Given the description of an element on the screen output the (x, y) to click on. 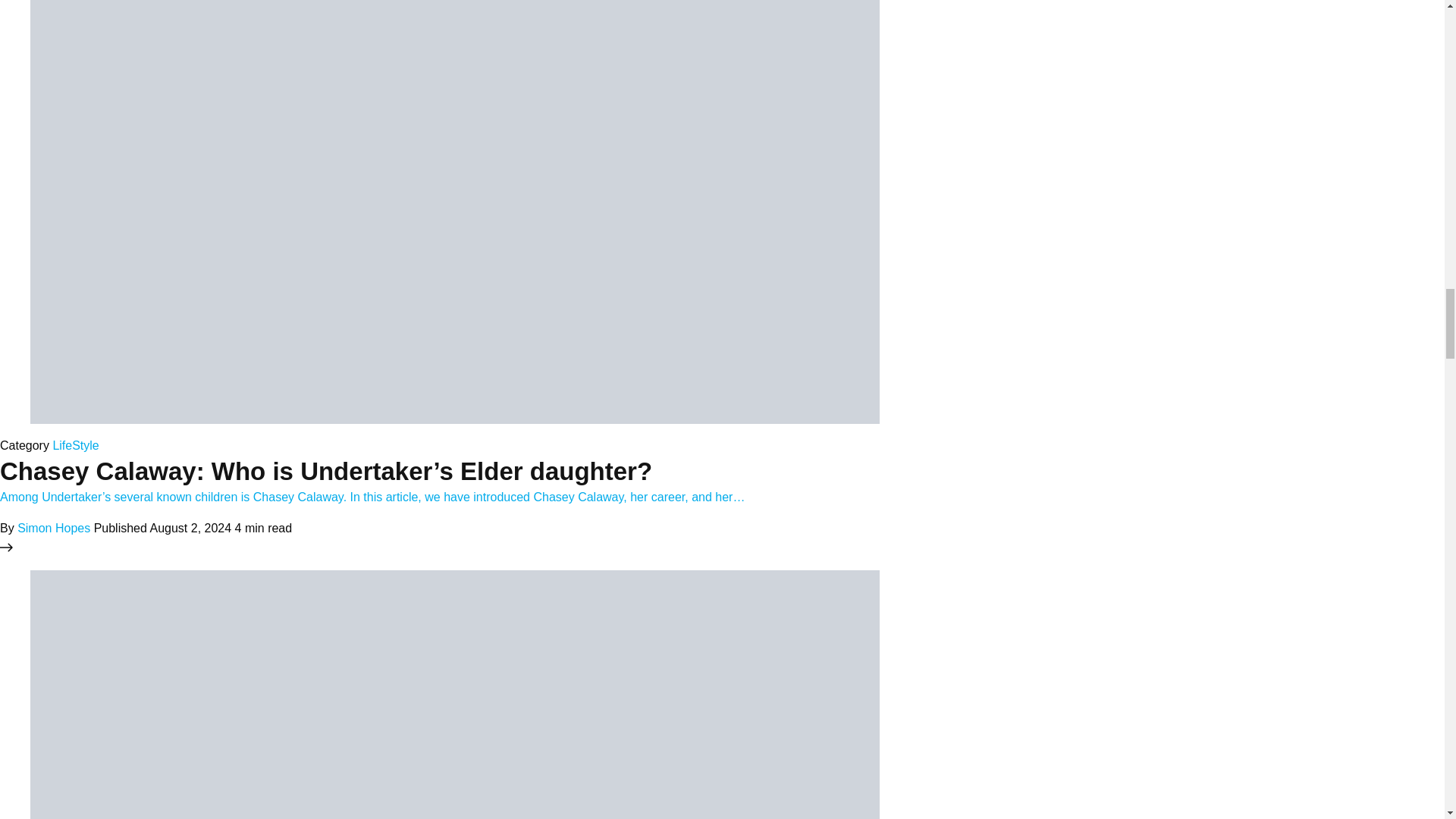
Simon Hopes (53, 527)
LifeStyle (75, 444)
